Given the description of an element on the screen output the (x, y) to click on. 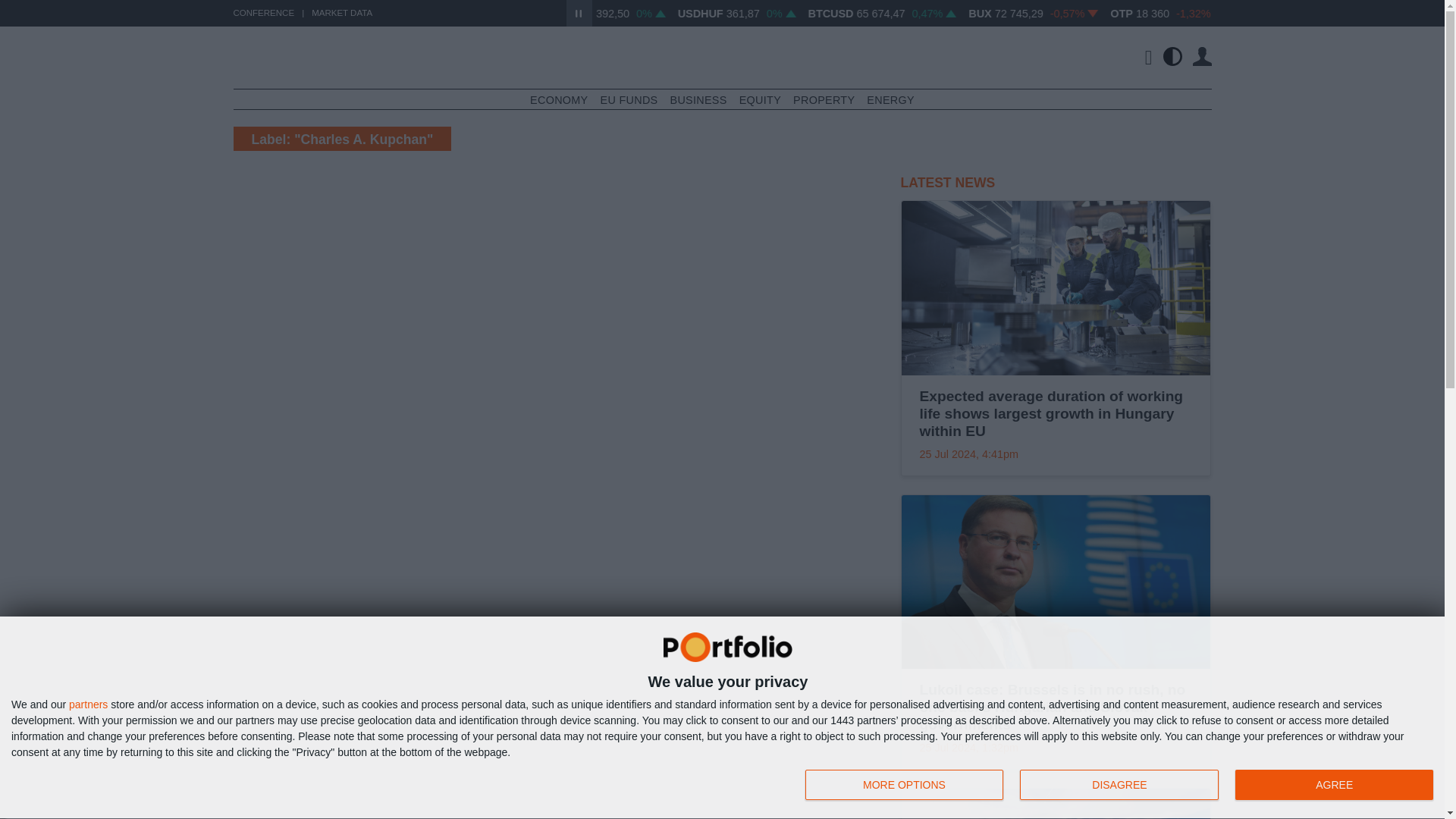
ECONOMY (558, 100)
System theme (1172, 56)
MORE OPTIONS (904, 784)
DISAGREE (1119, 784)
partners (87, 704)
AGREE (1333, 784)
Click for search (1142, 57)
MARKET DATA (341, 12)
CONFERENCE (263, 12)
OTP 18 360 (1214, 12)
